Given the description of an element on the screen output the (x, y) to click on. 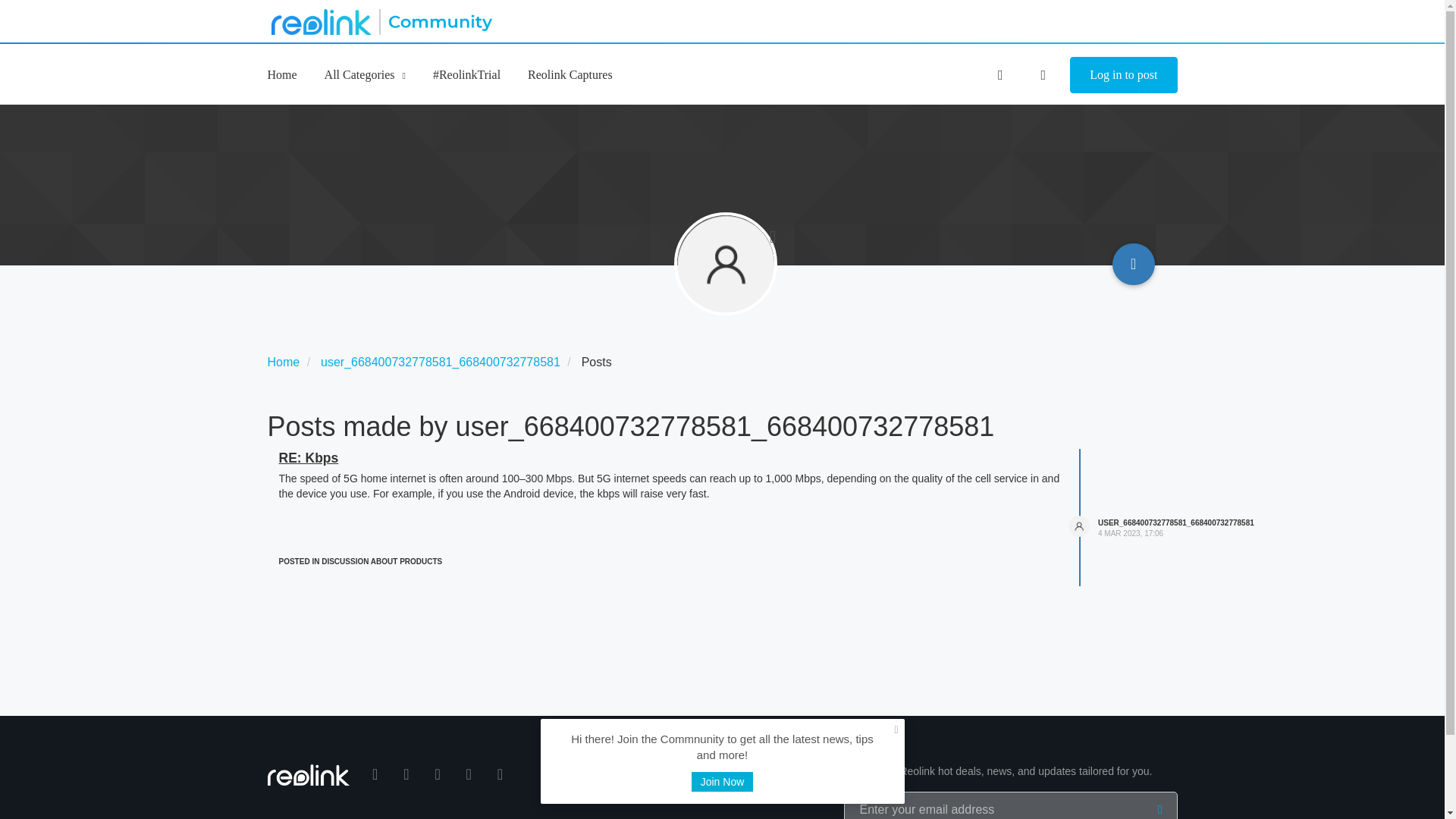
Home (282, 361)
4 Mar 2023, 17:06 (1130, 533)
Reolink Captures (569, 74)
All Categories (365, 74)
RE: Kbps (309, 458)
Home (281, 74)
POSTED IN DISCUSSION ABOUT PRODUCTS (360, 561)
Log in to post (1123, 75)
